Given the description of an element on the screen output the (x, y) to click on. 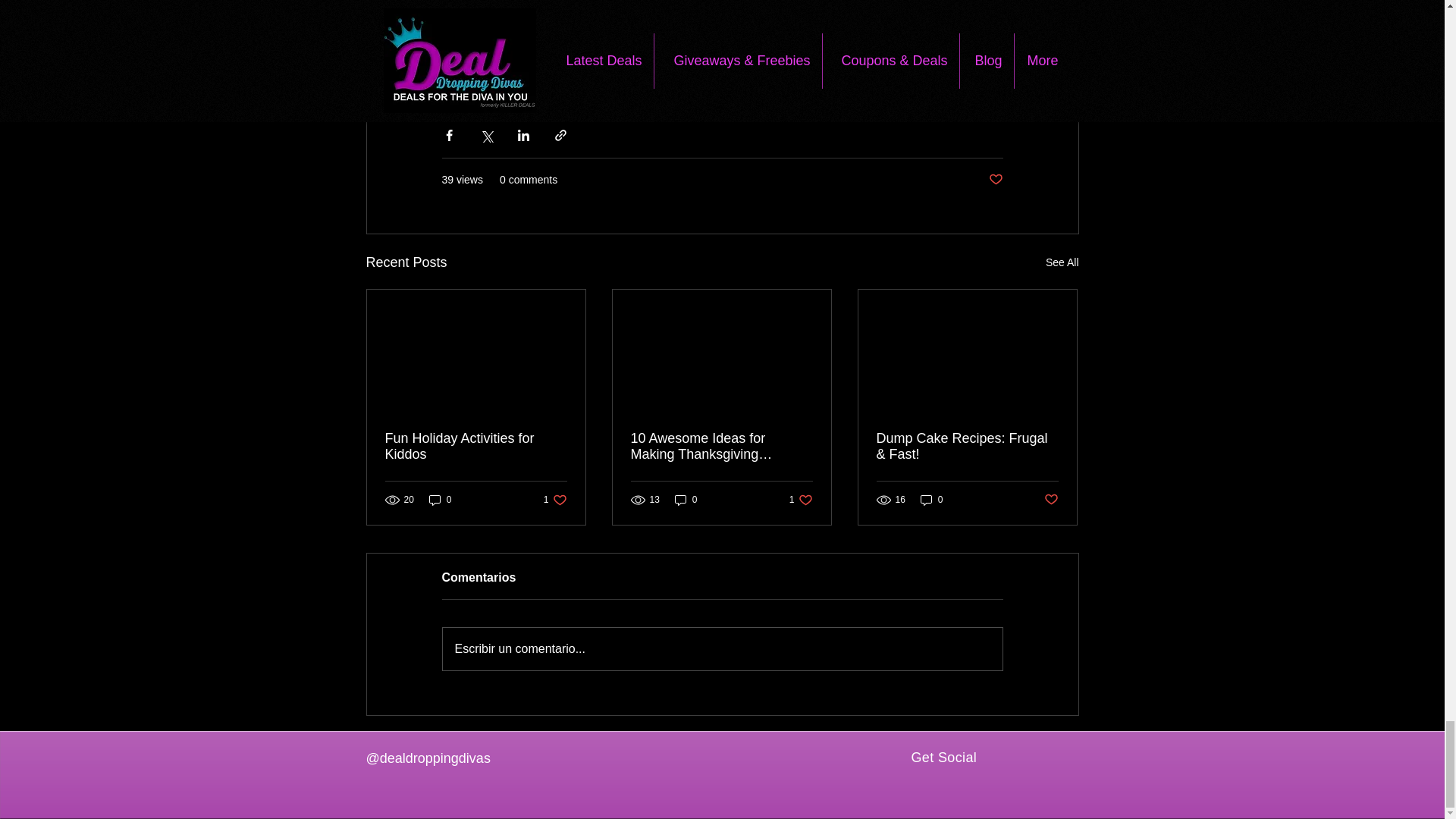
Fun Holiday Activities for Kiddos (476, 446)
0 (800, 499)
10 Awesome Ideas for Making Thanksgiving Preparation Better (685, 499)
0 (721, 446)
Post not marked as liked (440, 499)
Escribir un comentario... (1050, 499)
See All (555, 499)
0 (722, 649)
Post not marked as liked (1061, 262)
